Given the description of an element on the screen output the (x, y) to click on. 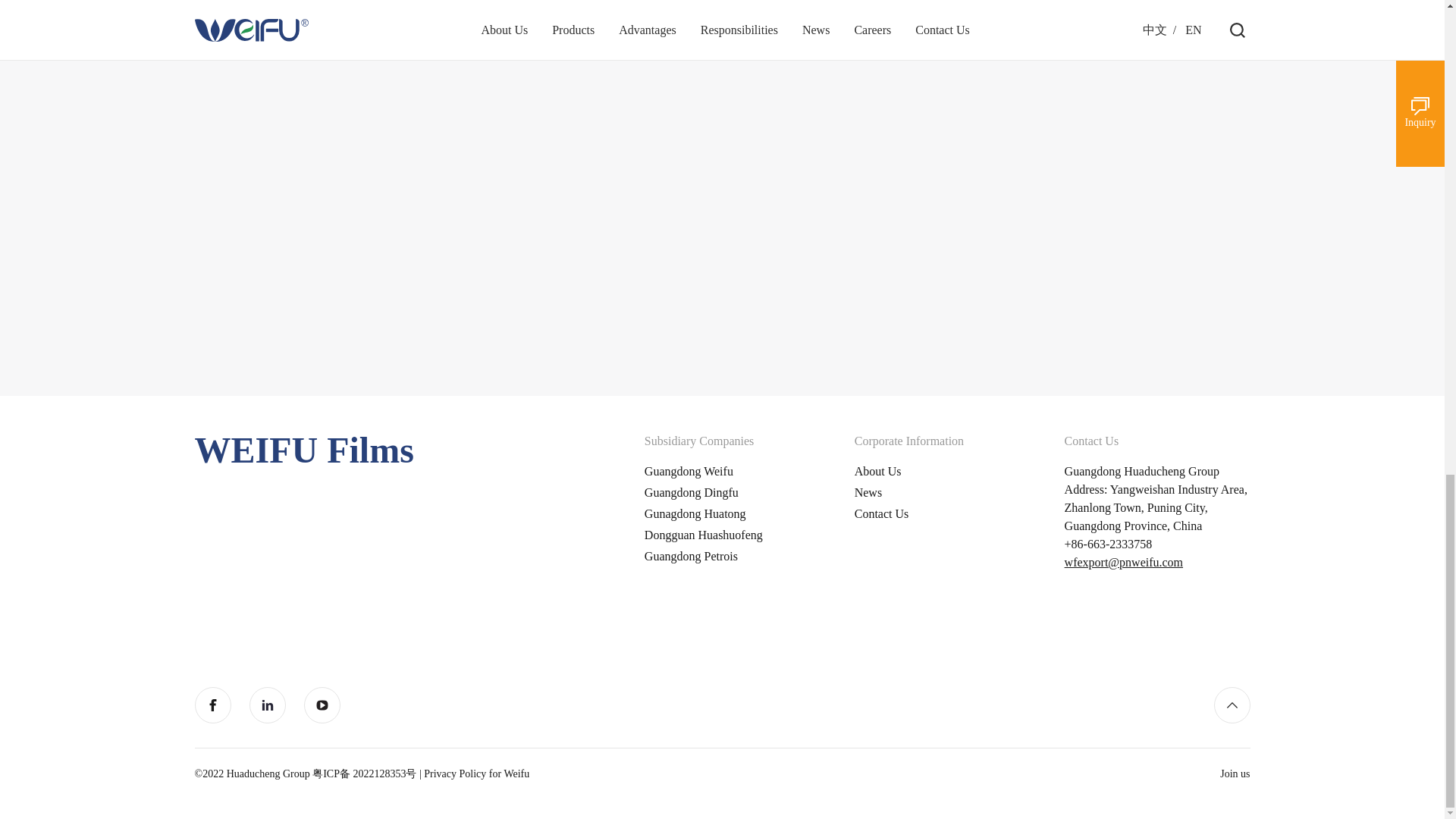
youtube (320, 705)
facebook (211, 705)
Top (1230, 705)
linkedin (266, 705)
